Given the description of an element on the screen output the (x, y) to click on. 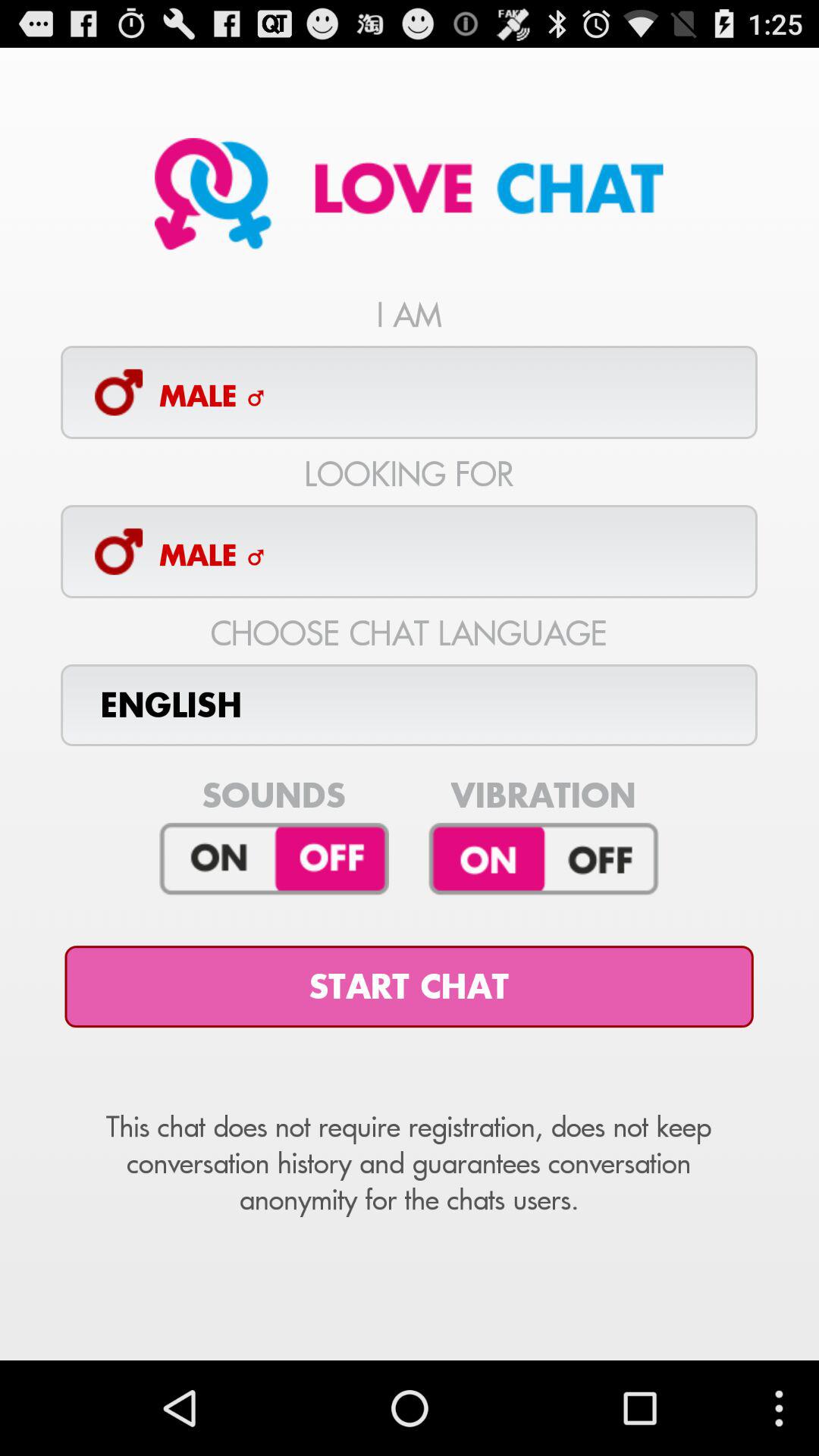
press the start chat (408, 986)
